Given the description of an element on the screen output the (x, y) to click on. 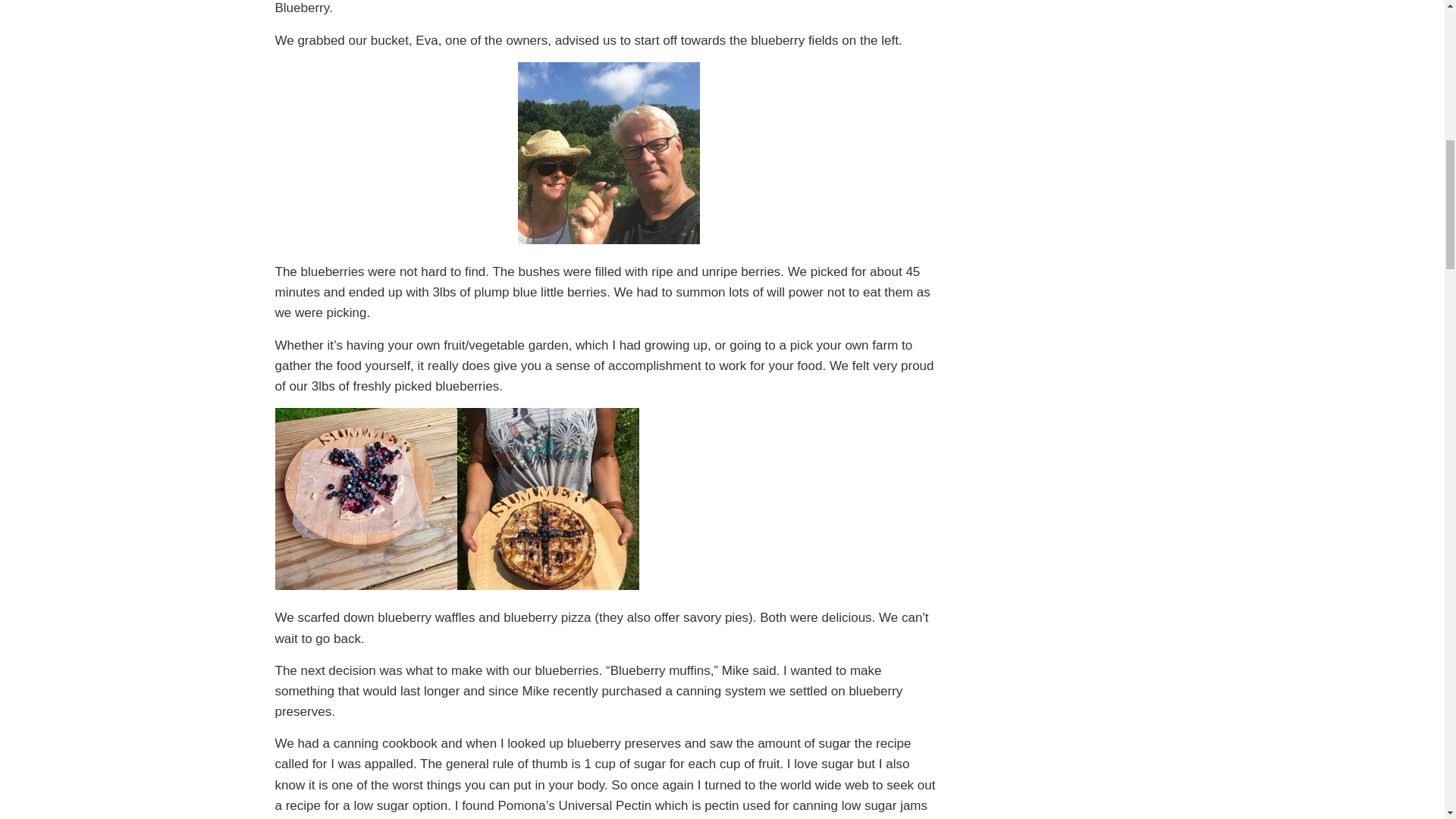
custom cutting board - round (366, 585)
personalized cutting board  (548, 585)
